Given the description of an element on the screen output the (x, y) to click on. 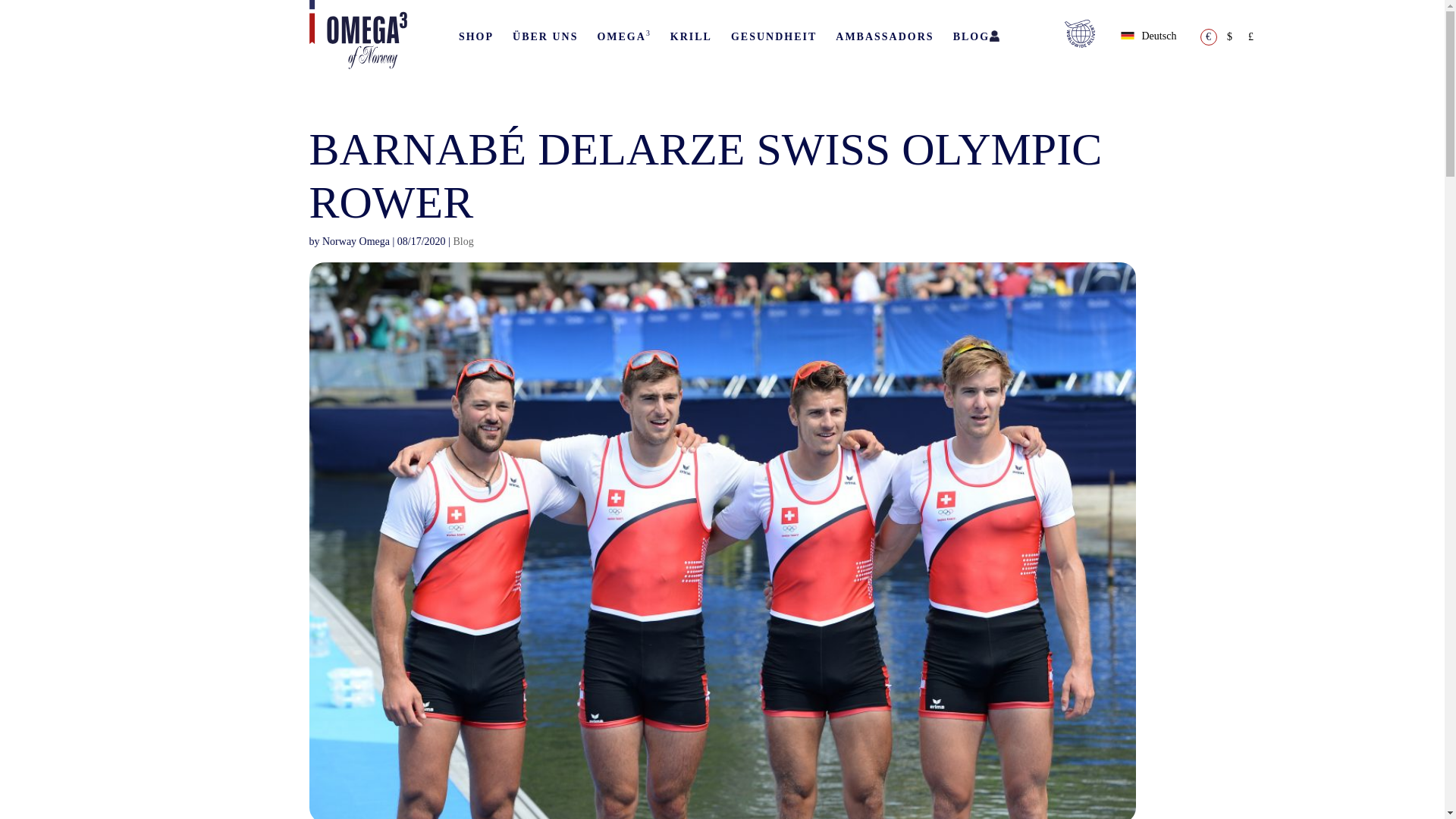
Blog (462, 241)
BLOG (970, 36)
AMBASSADORS (884, 36)
GESUNDHEIT (773, 36)
KRILL (690, 36)
OMEGA3 (623, 36)
SHOP (475, 36)
